Given the description of an element on the screen output the (x, y) to click on. 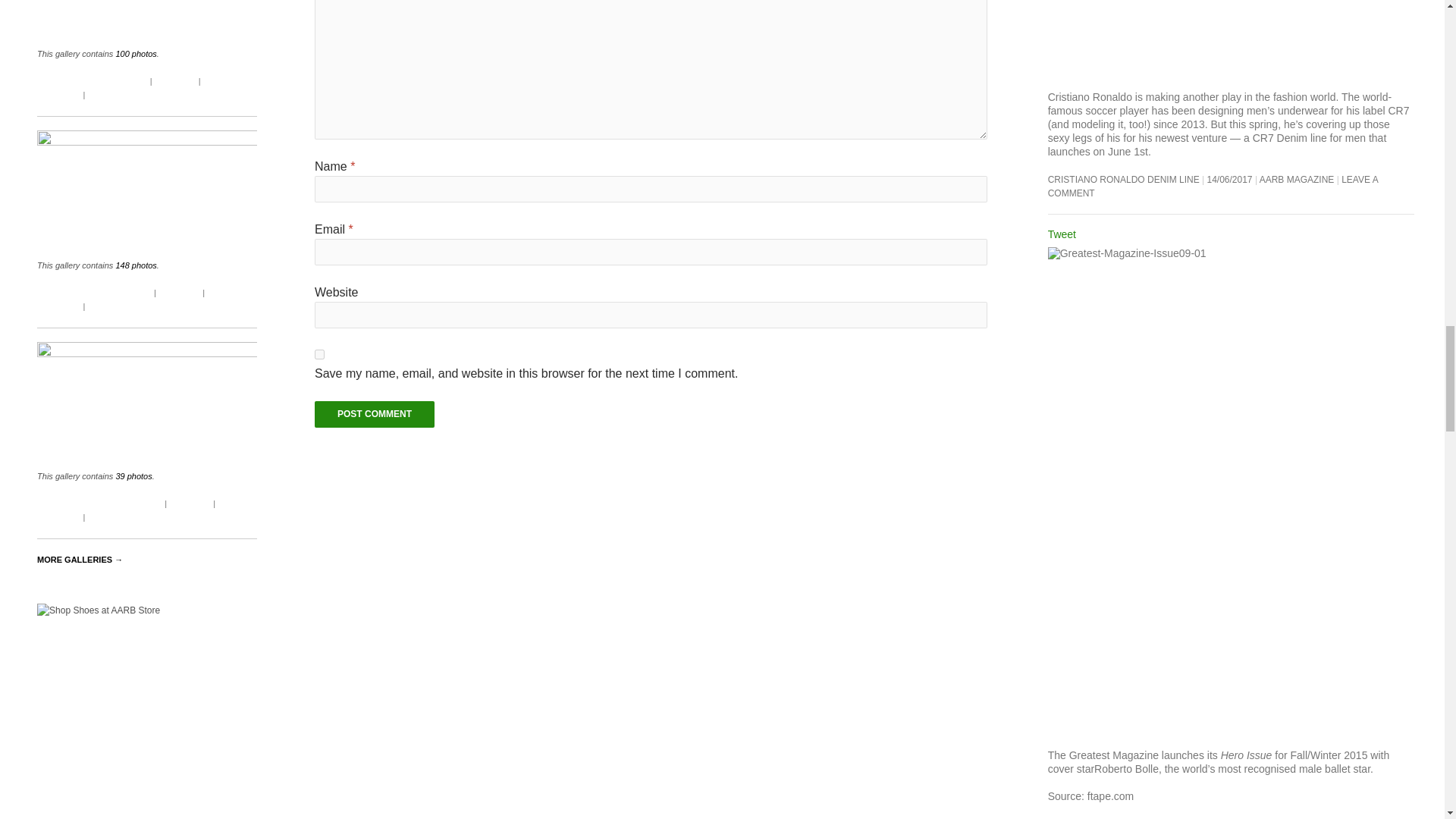
yes (319, 354)
Post Comment (373, 414)
Post Comment (373, 414)
Shop Shoes at AARB Store (147, 711)
